Given the description of an element on the screen output the (x, y) to click on. 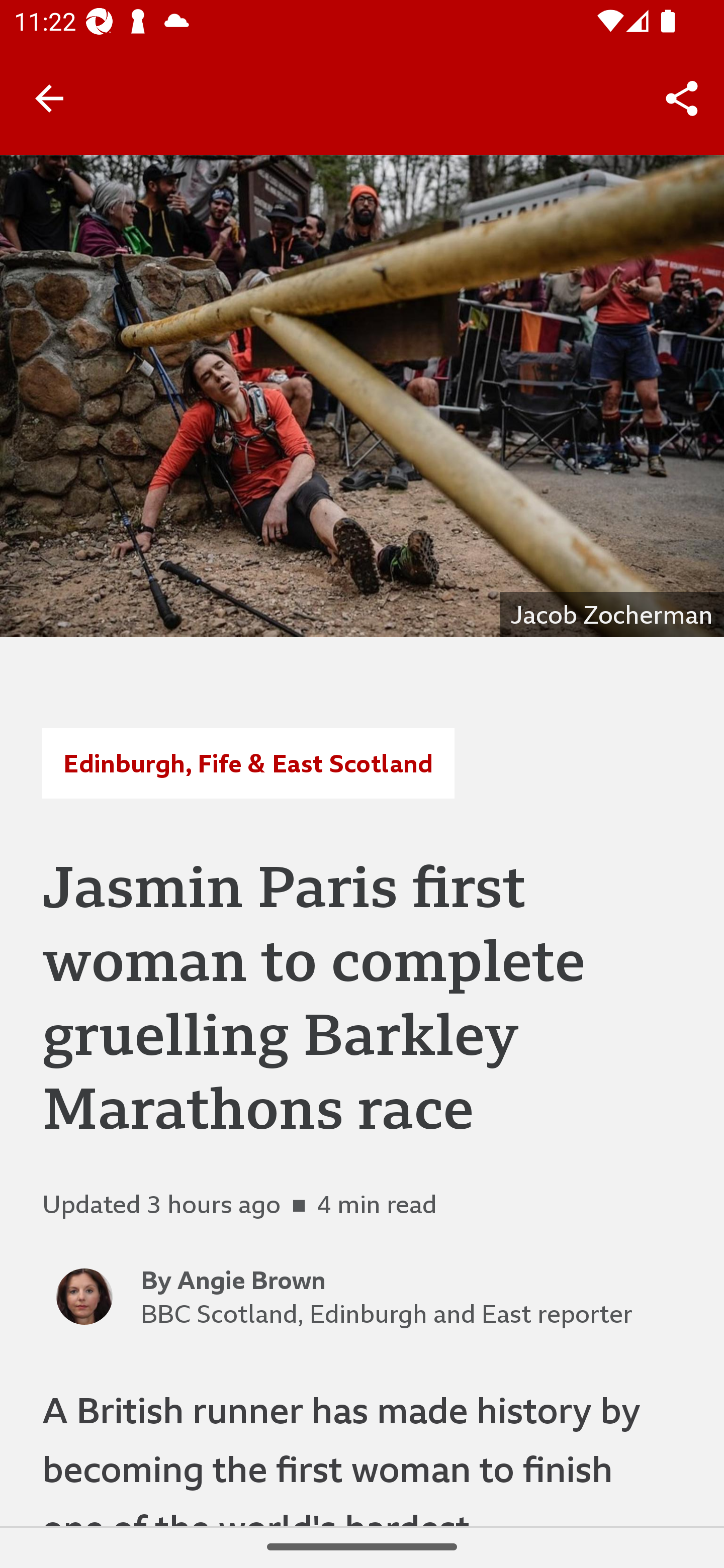
Back (49, 97)
Share (681, 98)
Jasmin Paris (362, 395)
Edinburgh, Fife & East Scotland (247, 763)
